Given the description of an element on the screen output the (x, y) to click on. 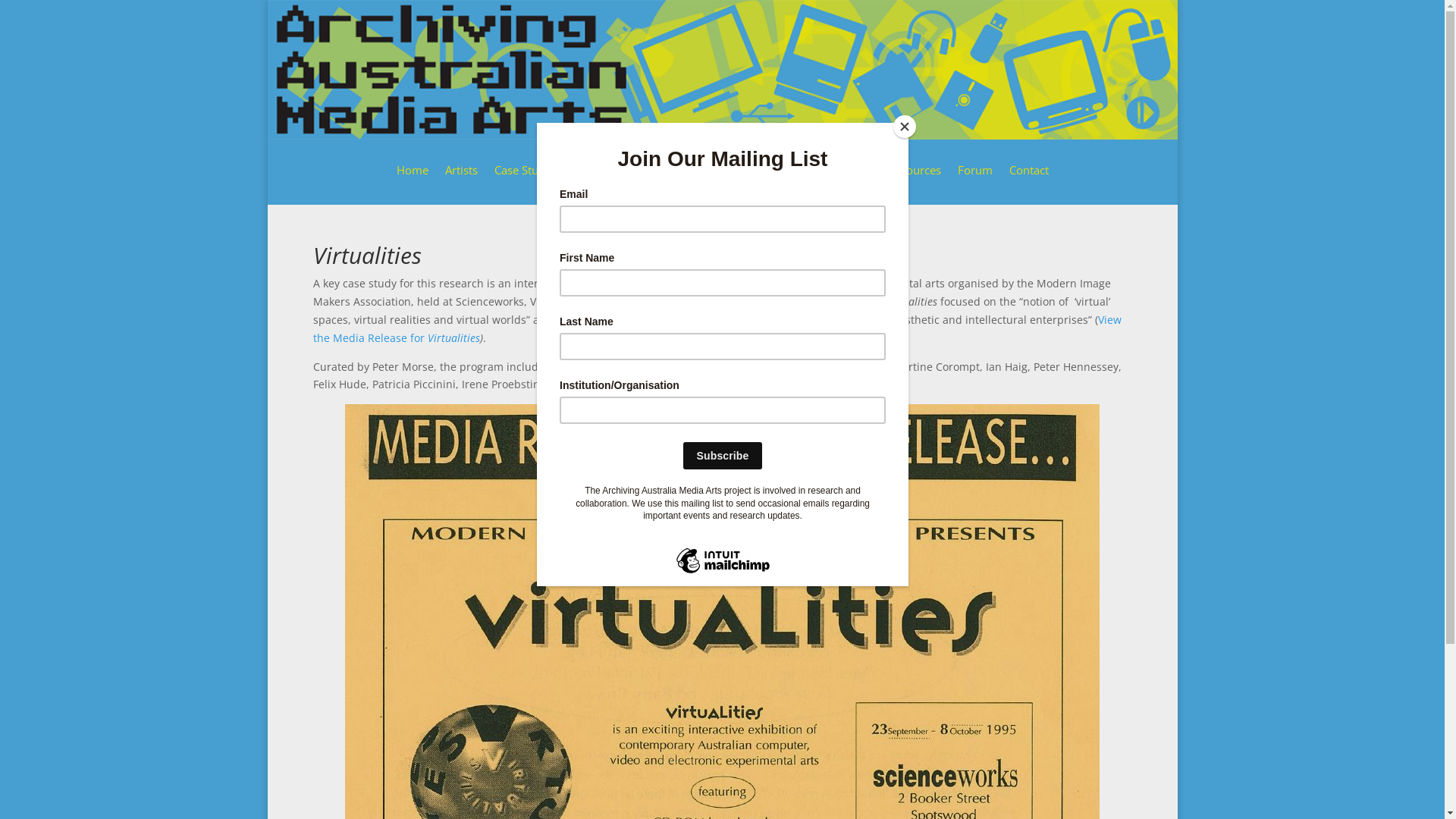
Artists Element type: text (460, 180)
Resources Element type: text (913, 180)
Blog Element type: text (859, 180)
Database Element type: text (715, 180)
Forum Element type: text (974, 180)
aama Element type: hover (721, 69)
View the Media Release for Virtualities Element type: text (716, 328)
Case Studies Element type: text (534, 180)
View the Virtualities program Element type: text (715, 383)
Project Partners Element type: text (632, 180)
Contact Element type: text (1028, 180)
Conference Element type: text (793, 180)
Home Element type: text (411, 180)
